Given the description of an element on the screen output the (x, y) to click on. 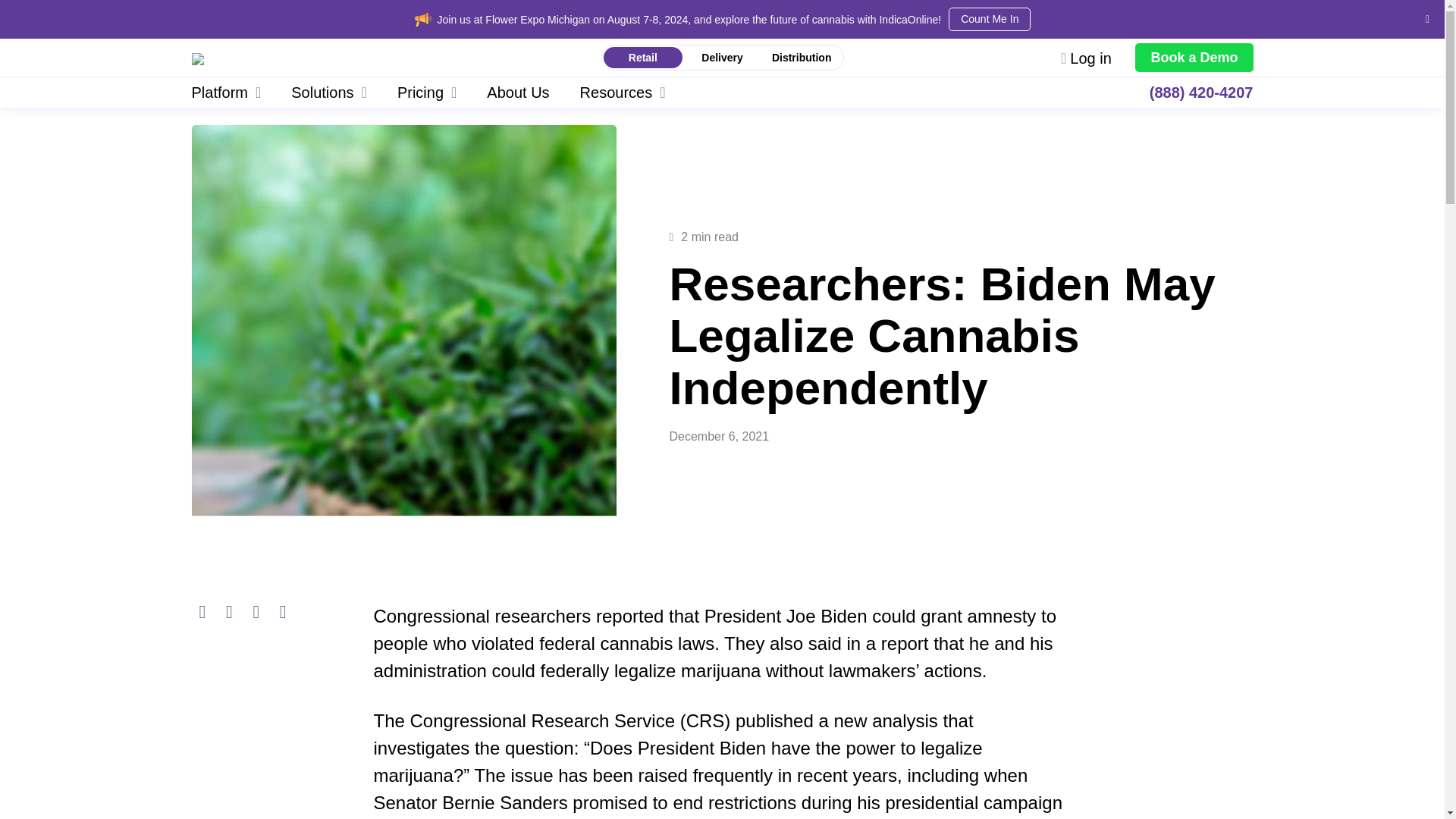
Pricing (426, 91)
share post on Twitter (201, 611)
Resources (622, 91)
Count Me In (989, 19)
share post on Facebook (228, 611)
Book a Demo (1193, 57)
Platform (233, 91)
Log in (1086, 57)
Delivery (721, 57)
share post on LinkedIn (255, 611)
About Us (517, 91)
Solutions (328, 91)
Distribution (801, 57)
Retail (643, 57)
share post on Pinterest (282, 611)
